Given the description of an element on the screen output the (x, y) to click on. 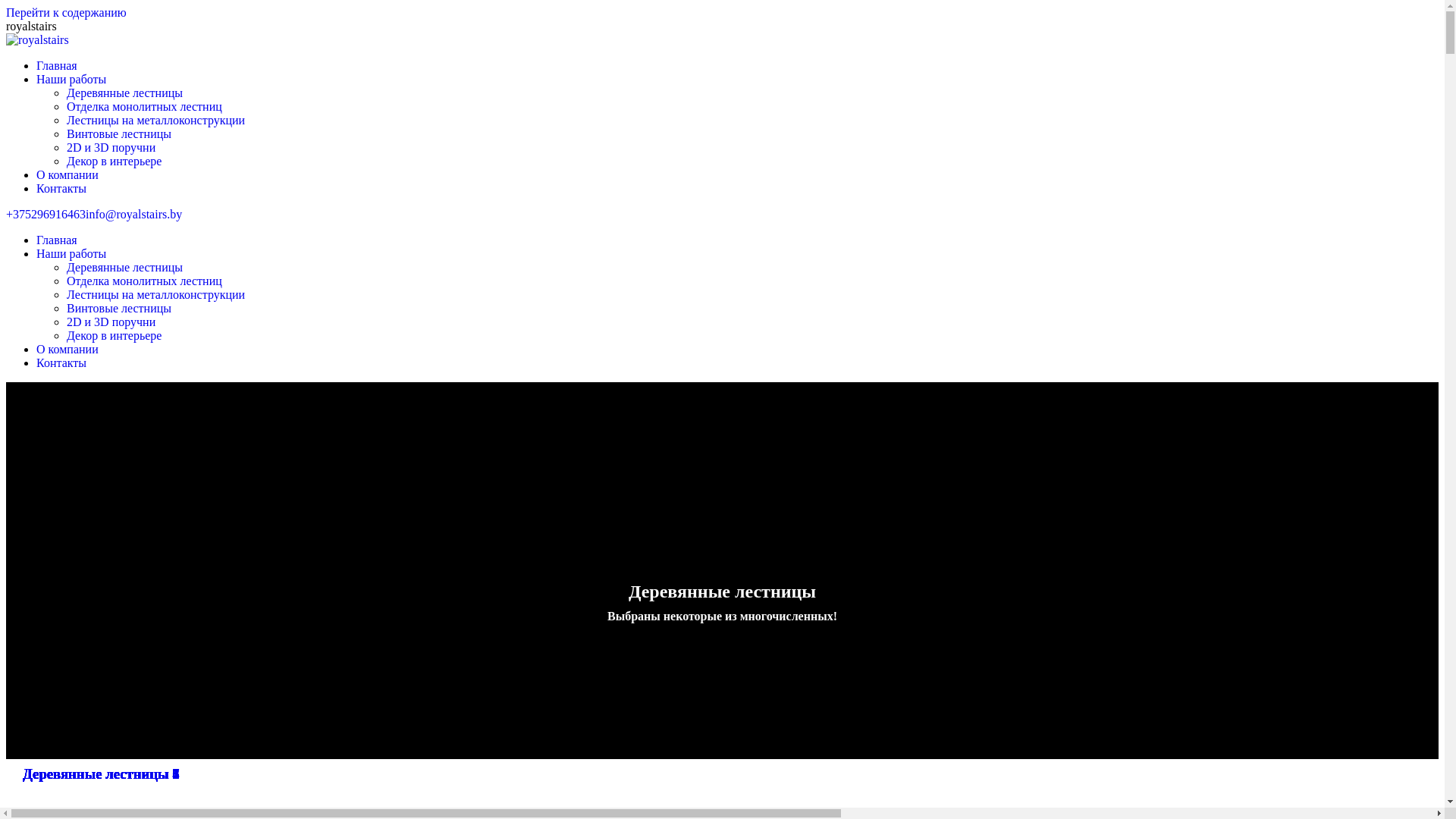
+375296916463 Element type: text (45, 213)
info@royalstairs.by Element type: text (133, 213)
